Given the description of an element on the screen output the (x, y) to click on. 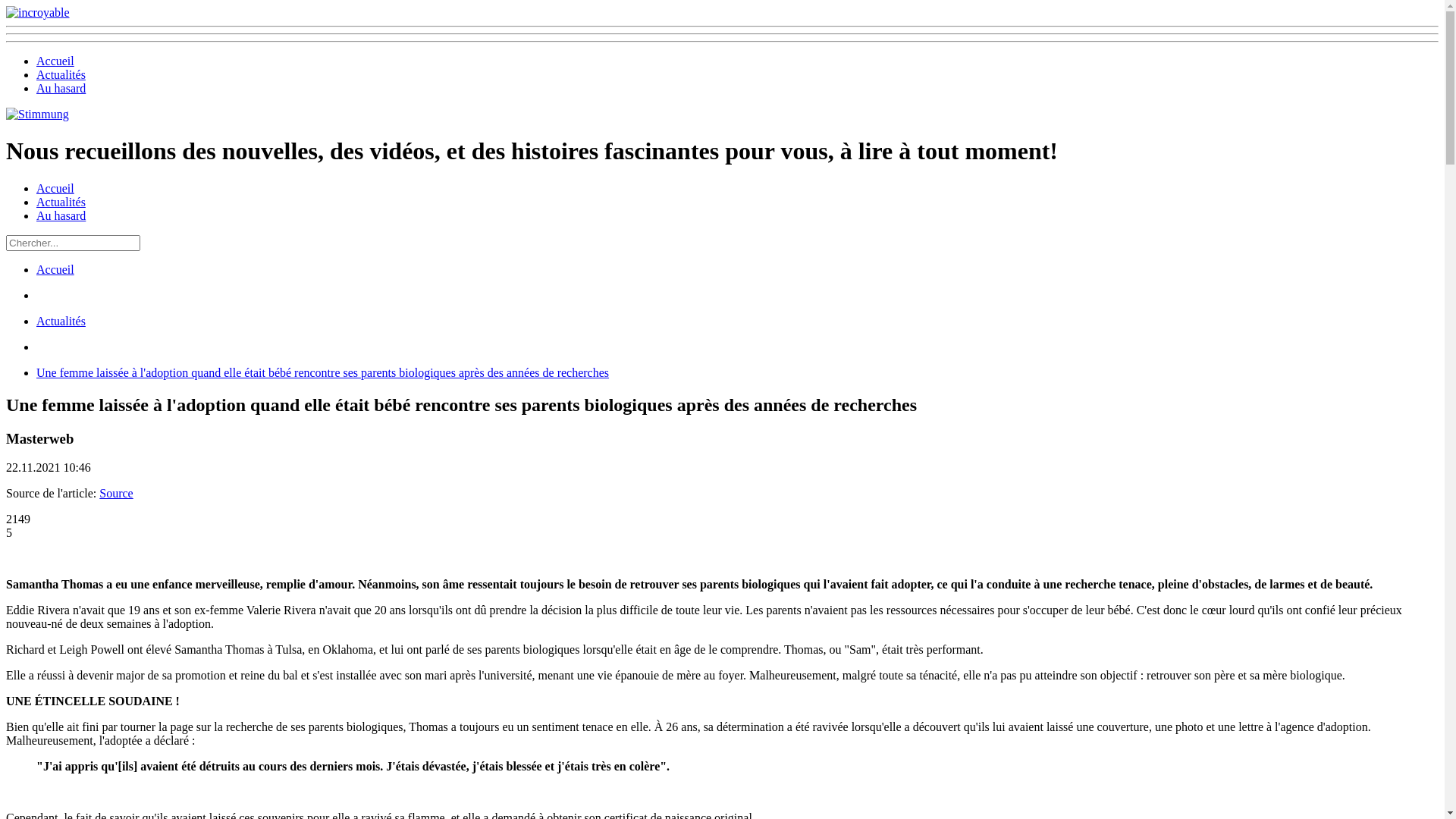
Accueil Element type: text (55, 269)
Au hasard Element type: text (60, 87)
Soyez toujours actif et ouvert Element type: hover (37, 113)
Au hasard Element type: text (60, 215)
Soyez toujours actif et ouvert Element type: hover (37, 12)
Source Element type: text (115, 492)
Accueil Element type: text (55, 60)
Accueil Element type: text (55, 188)
